Given the description of an element on the screen output the (x, y) to click on. 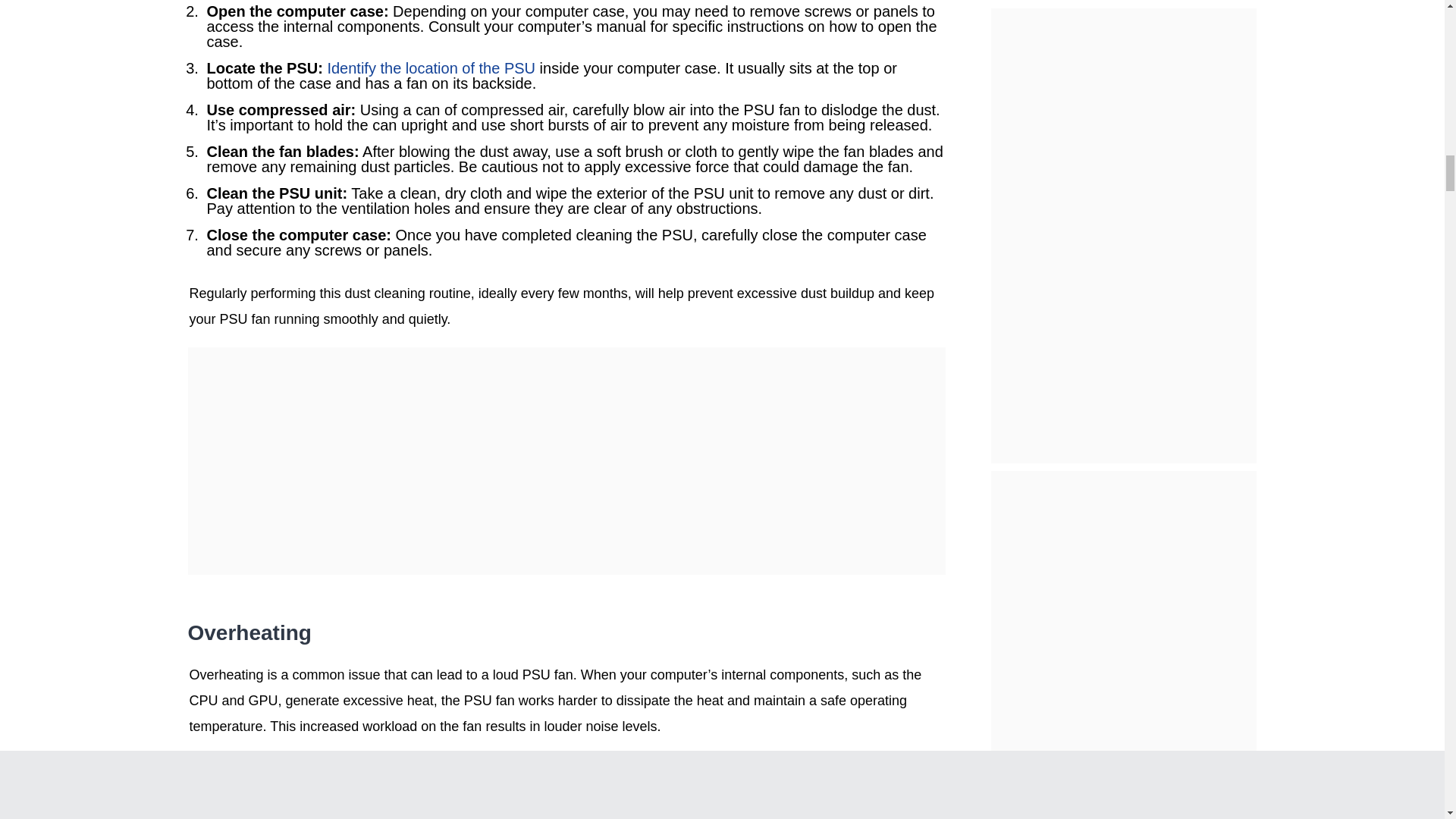
Identify the location of the PSU (430, 67)
